Given the description of an element on the screen output the (x, y) to click on. 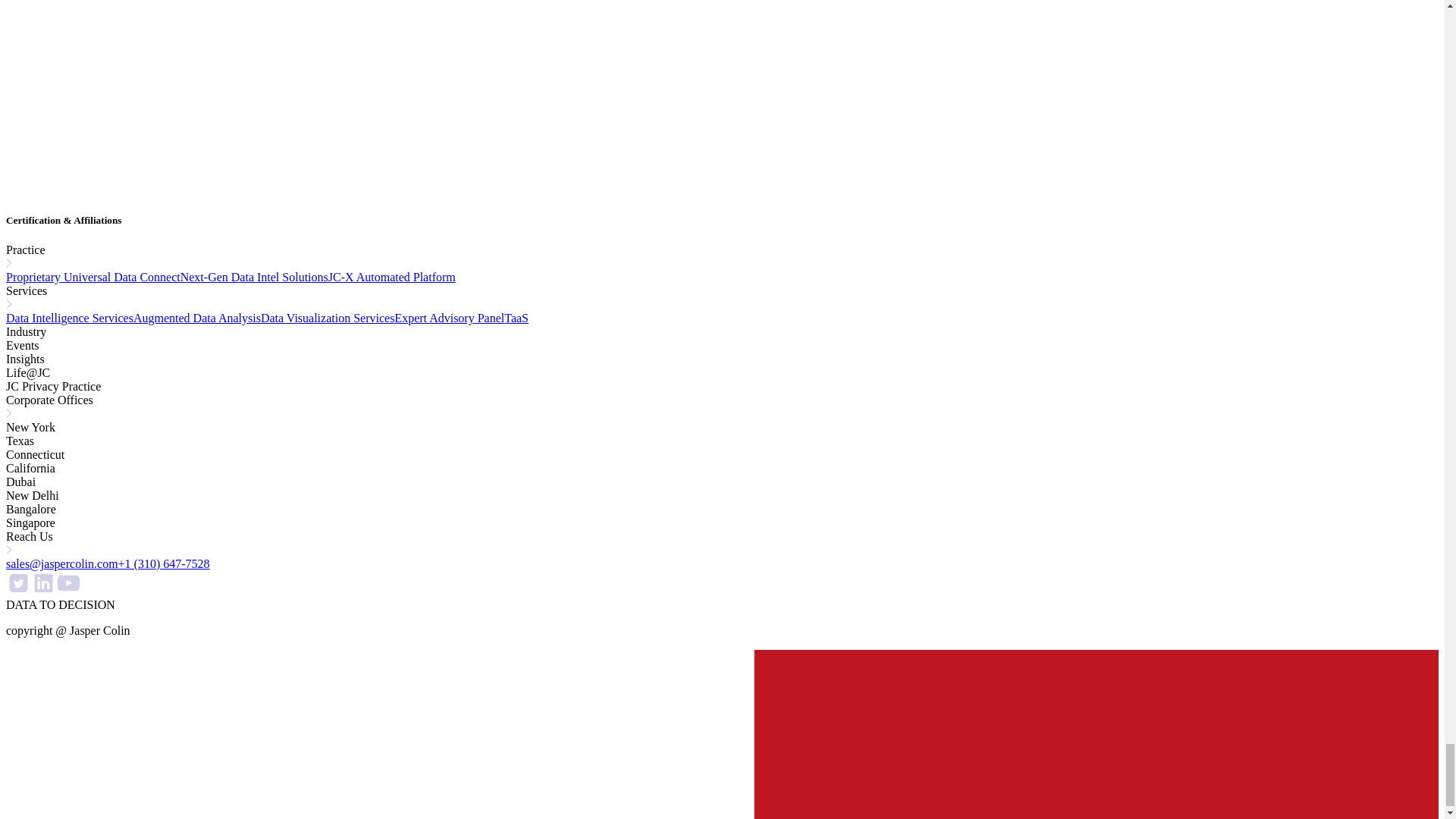
Data Intelligence Services (69, 318)
Data Visualization Services (327, 318)
Augmented Data Analysis (196, 318)
Next-Gen Data Intel Solutions (254, 277)
TaaS (515, 318)
Expert Advisory Panel (448, 318)
Proprietary Universal Data Connect (92, 277)
JC-X Automated Platform (392, 277)
